Given the description of an element on the screen output the (x, y) to click on. 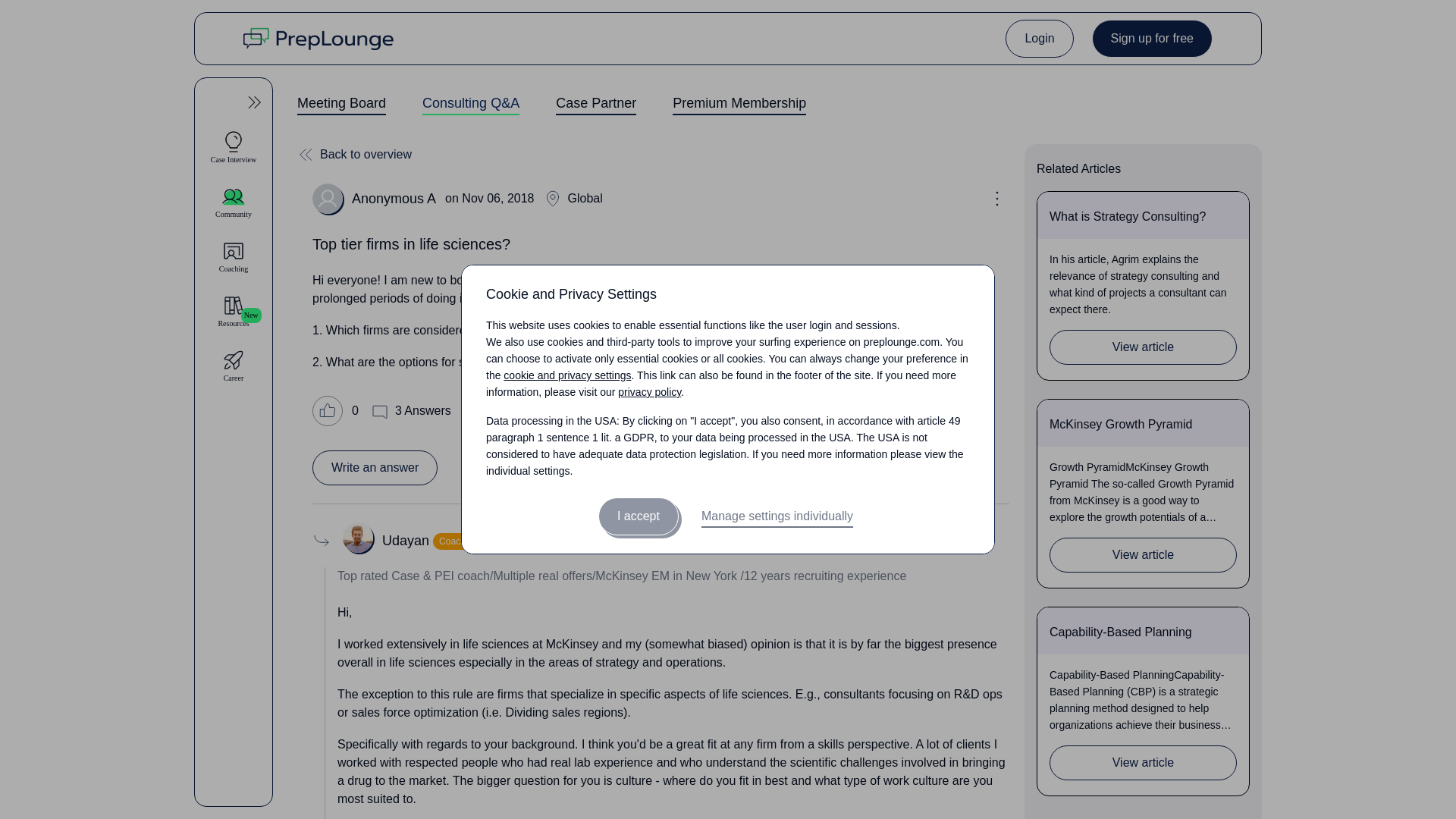
Case Interview (233, 147)
Login (1039, 38)
Community (233, 202)
Sign up for free (1152, 38)
